Given the description of an element on the screen output the (x, y) to click on. 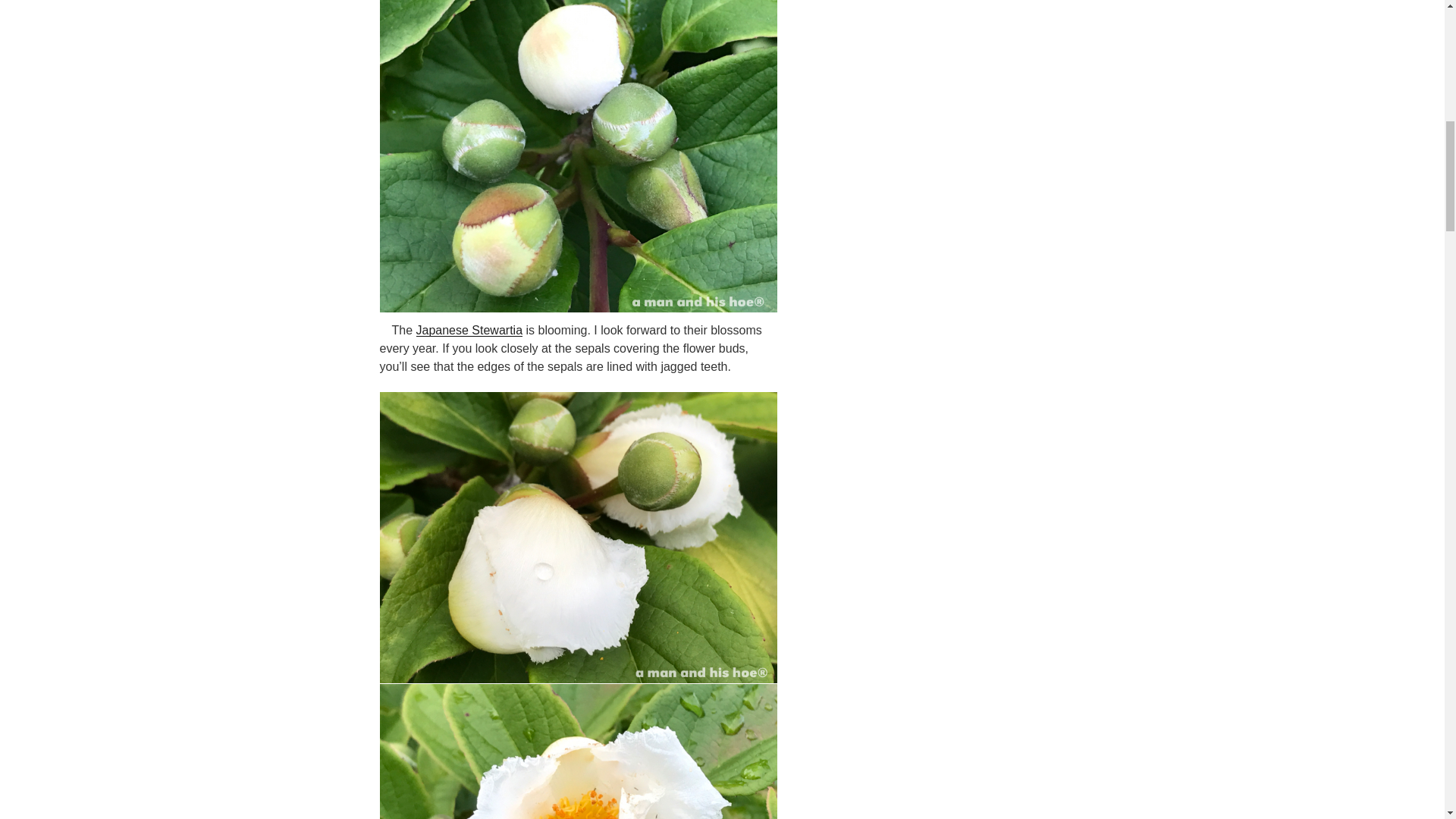
Japanese Stewartia (469, 329)
